Given the description of an element on the screen output the (x, y) to click on. 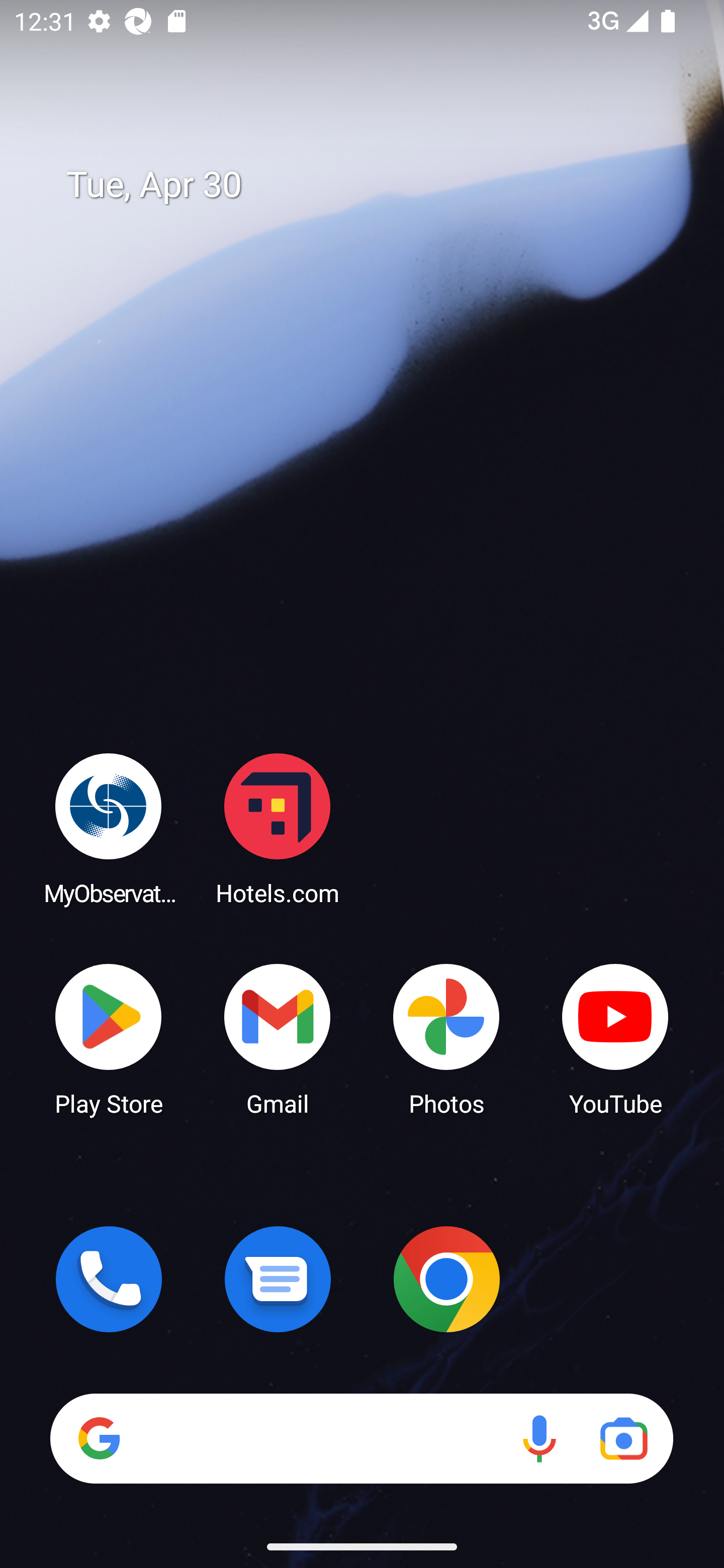
Tue, Apr 30 (375, 184)
MyObservatory (108, 828)
Hotels.com (277, 828)
Play Store (108, 1038)
Gmail (277, 1038)
Photos (445, 1038)
YouTube (615, 1038)
Phone (108, 1279)
Messages (277, 1279)
Chrome (446, 1279)
Voice search (539, 1438)
Google Lens (623, 1438)
